Given the description of an element on the screen output the (x, y) to click on. 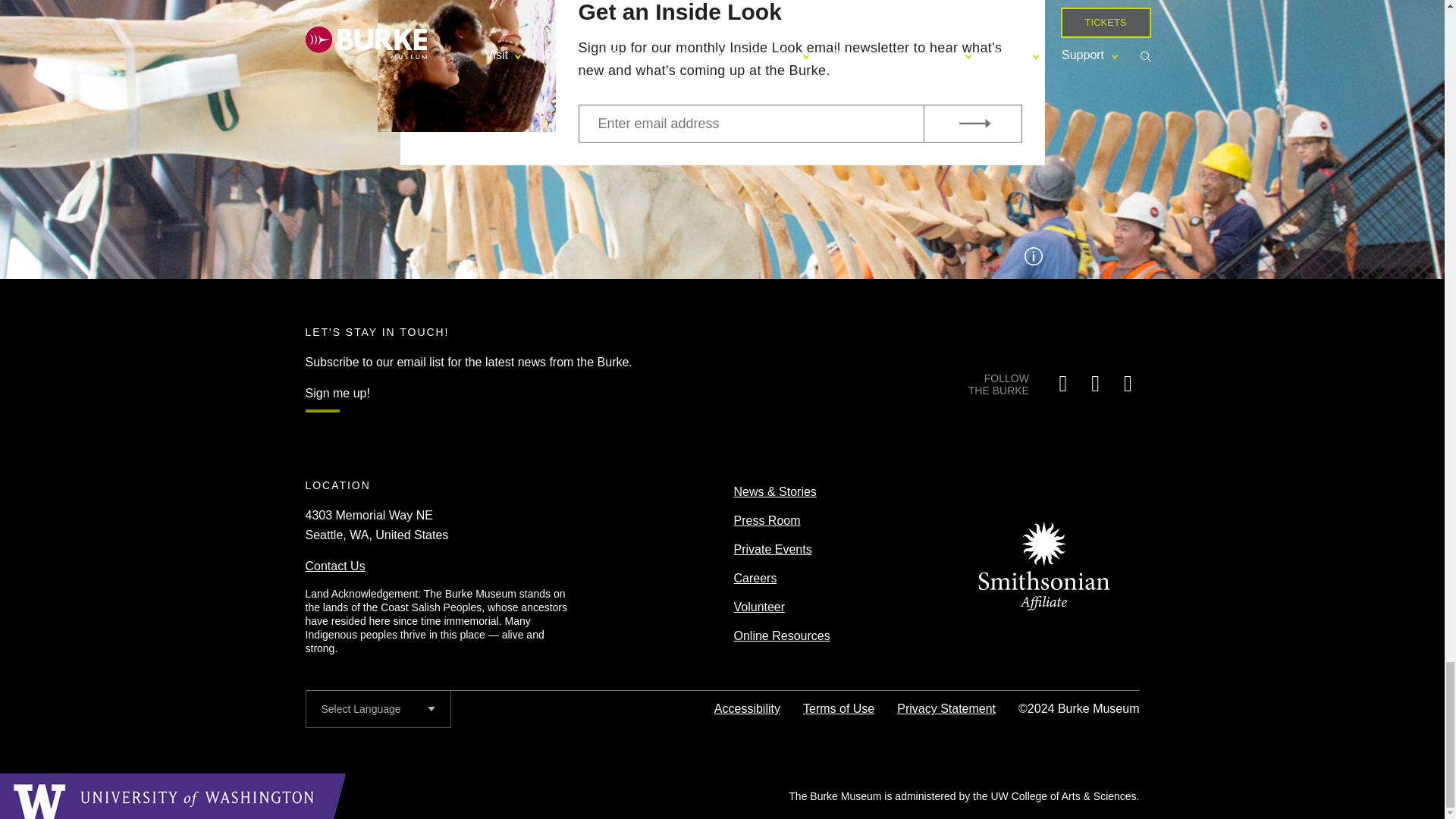
submit (972, 123)
